Given the description of an element on the screen output the (x, y) to click on. 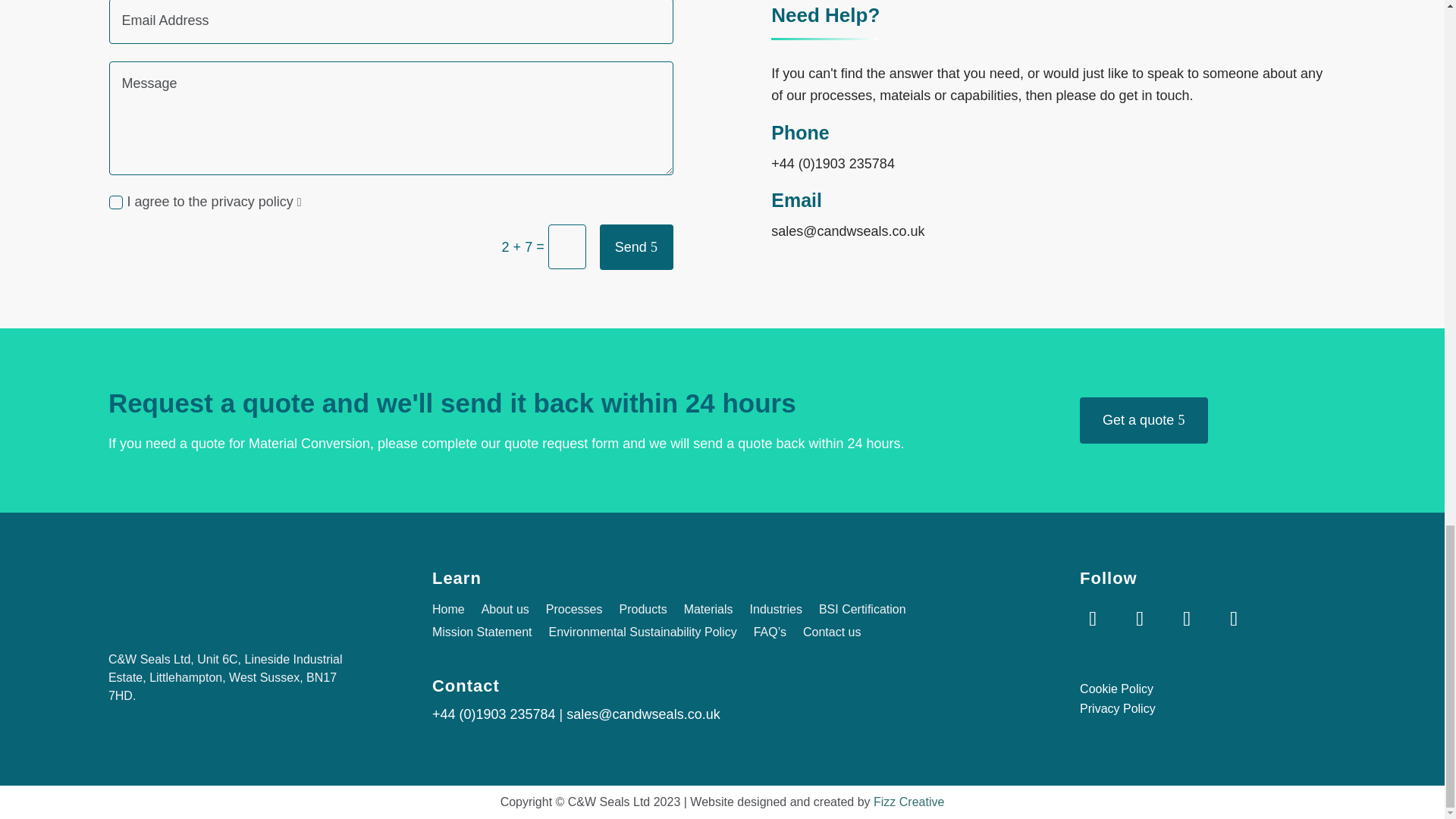
Follow on X (1092, 618)
Follow on Instagram (1186, 618)
Follow on LinkedIn (1232, 618)
Send (635, 247)
c-w-seals-footer-logo-new (236, 593)
Follow on Facebook (1139, 618)
